Given the description of an element on the screen output the (x, y) to click on. 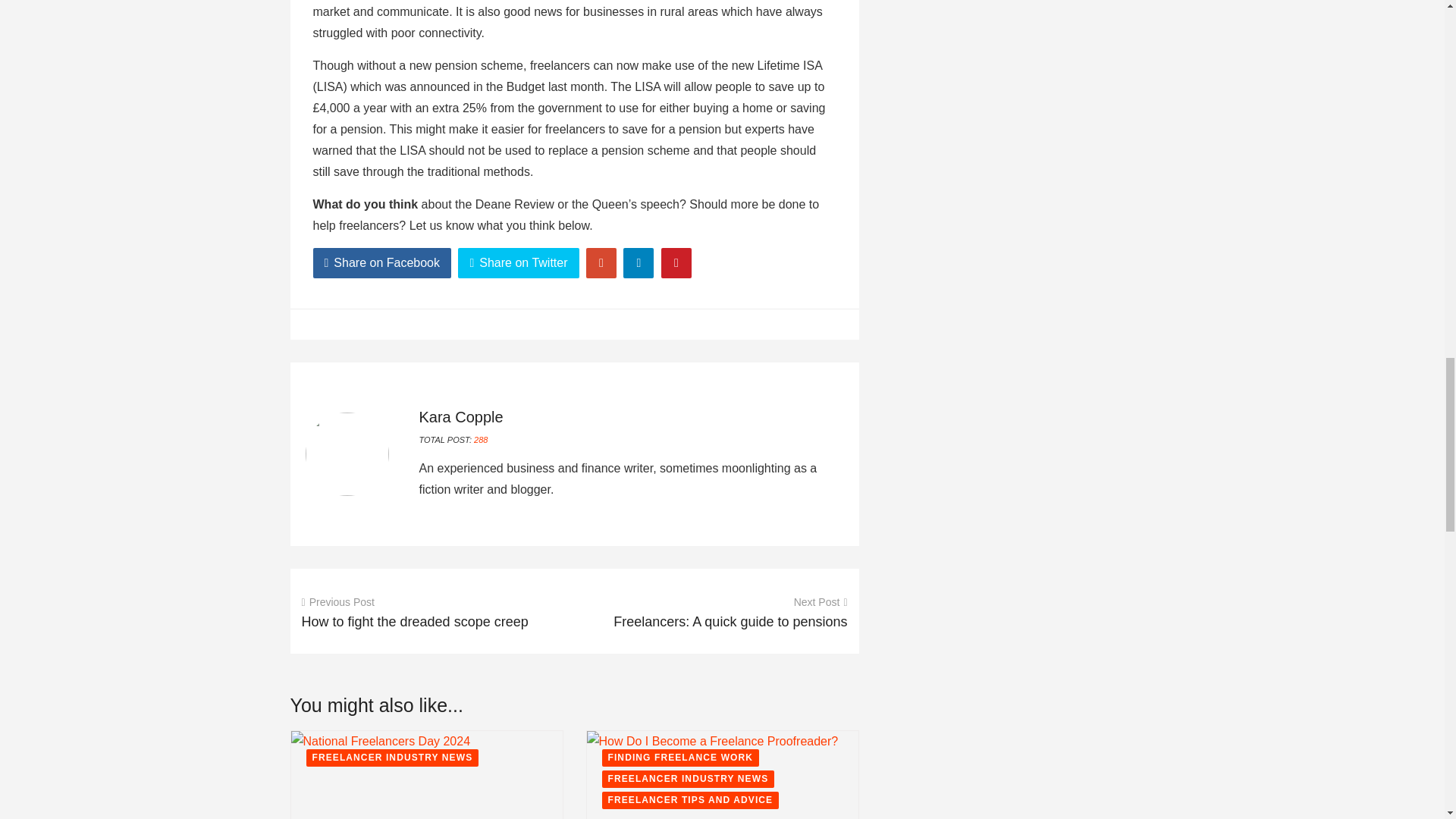
Share on Facebook (382, 263)
Share on Twitter (518, 263)
